Given the description of an element on the screen output the (x, y) to click on. 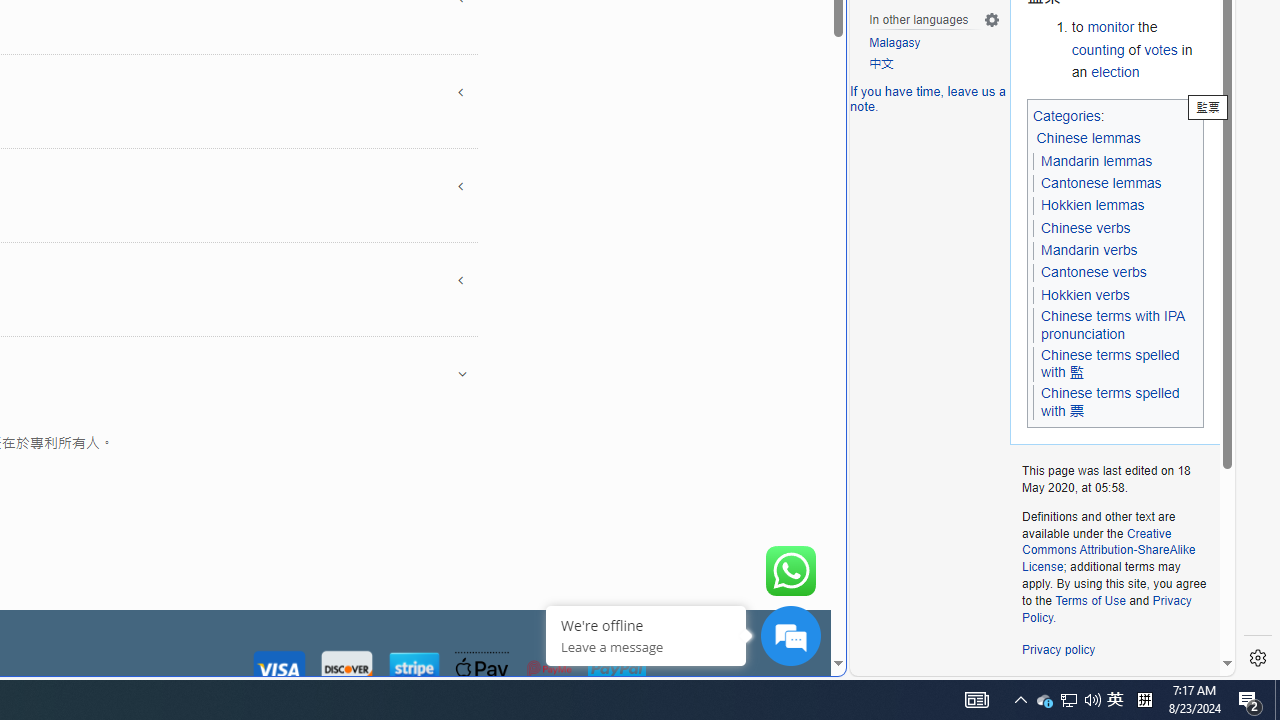
If you have time, leave us a note. (927, 97)
Disclaimers (1154, 686)
Mandarin verbs (1088, 250)
Chinese terms with IPA pronunciation (1115, 326)
monitor (1110, 27)
Malagasy (895, 43)
Language settings (992, 19)
